Given the description of an element on the screen output the (x, y) to click on. 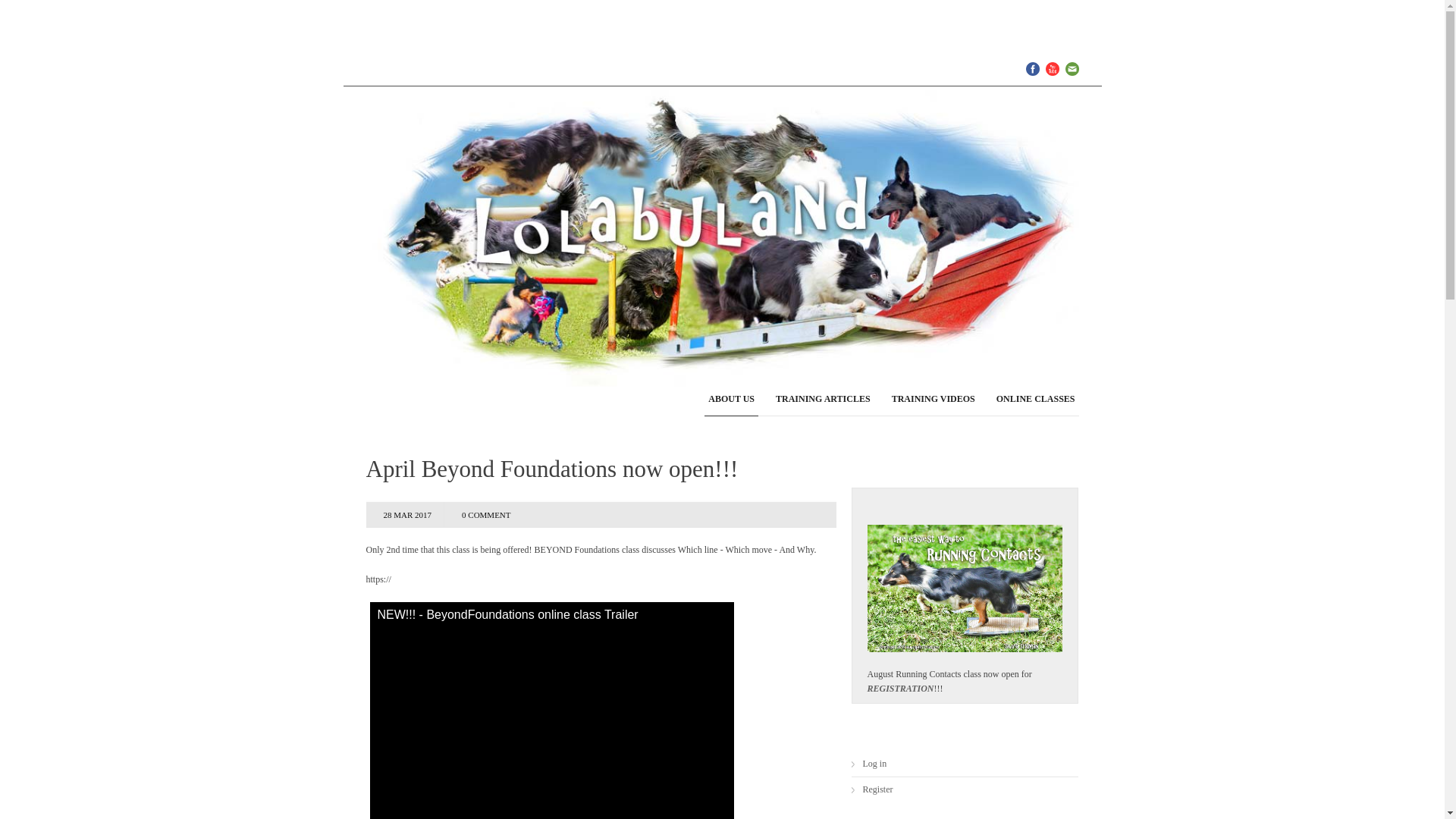
ABOUT US (731, 398)
NEW!!! - BeyondFoundations online class Trailer (551, 710)
ONLINE CLASSES (1035, 398)
TRAINING ARTICLES (823, 398)
TRAINING VIDEOS (933, 398)
